Given the description of an element on the screen output the (x, y) to click on. 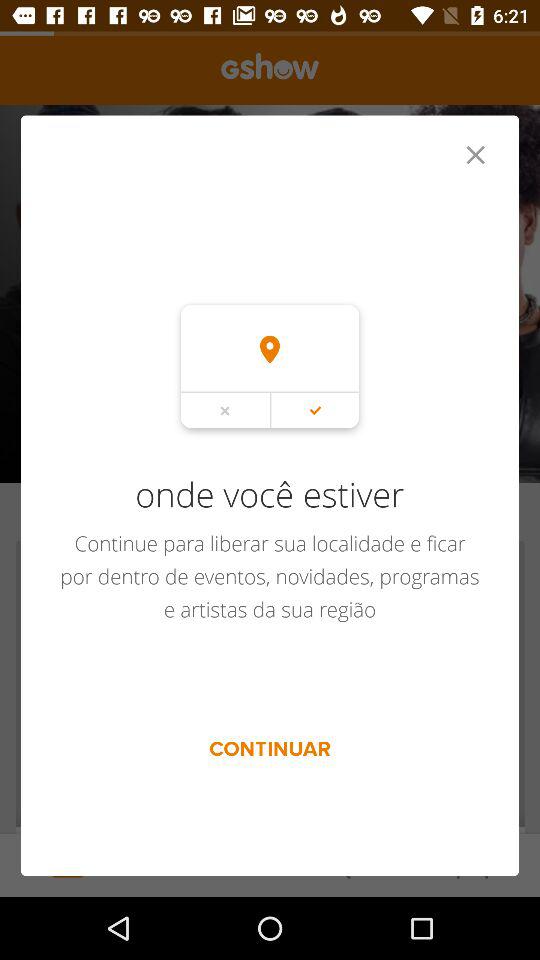
flip until continuar item (269, 748)
